Given the description of an element on the screen output the (x, y) to click on. 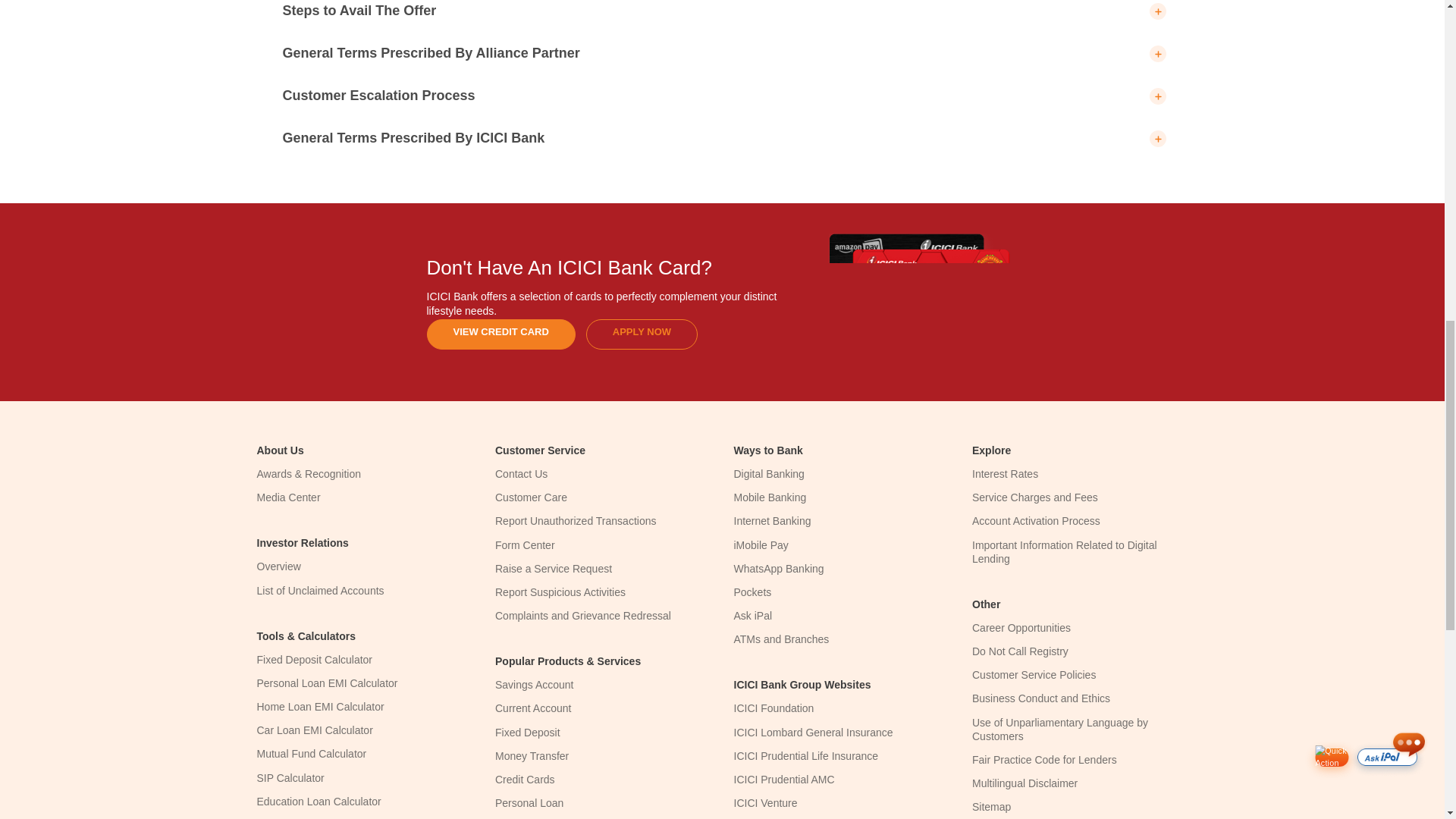
Fixed Deposit Calculator (314, 659)
Overview (277, 566)
Car Loan EMI Calculator (314, 729)
Media Center (288, 497)
List of Unclaimed Accounts (320, 589)
Personal Loan EMI Calculator (326, 683)
Education Loan Calculator (318, 801)
Home Loan EMI Calculator (320, 706)
Mutual Fund Calculator (311, 753)
SIP Calculator (289, 777)
